Given the description of an element on the screen output the (x, y) to click on. 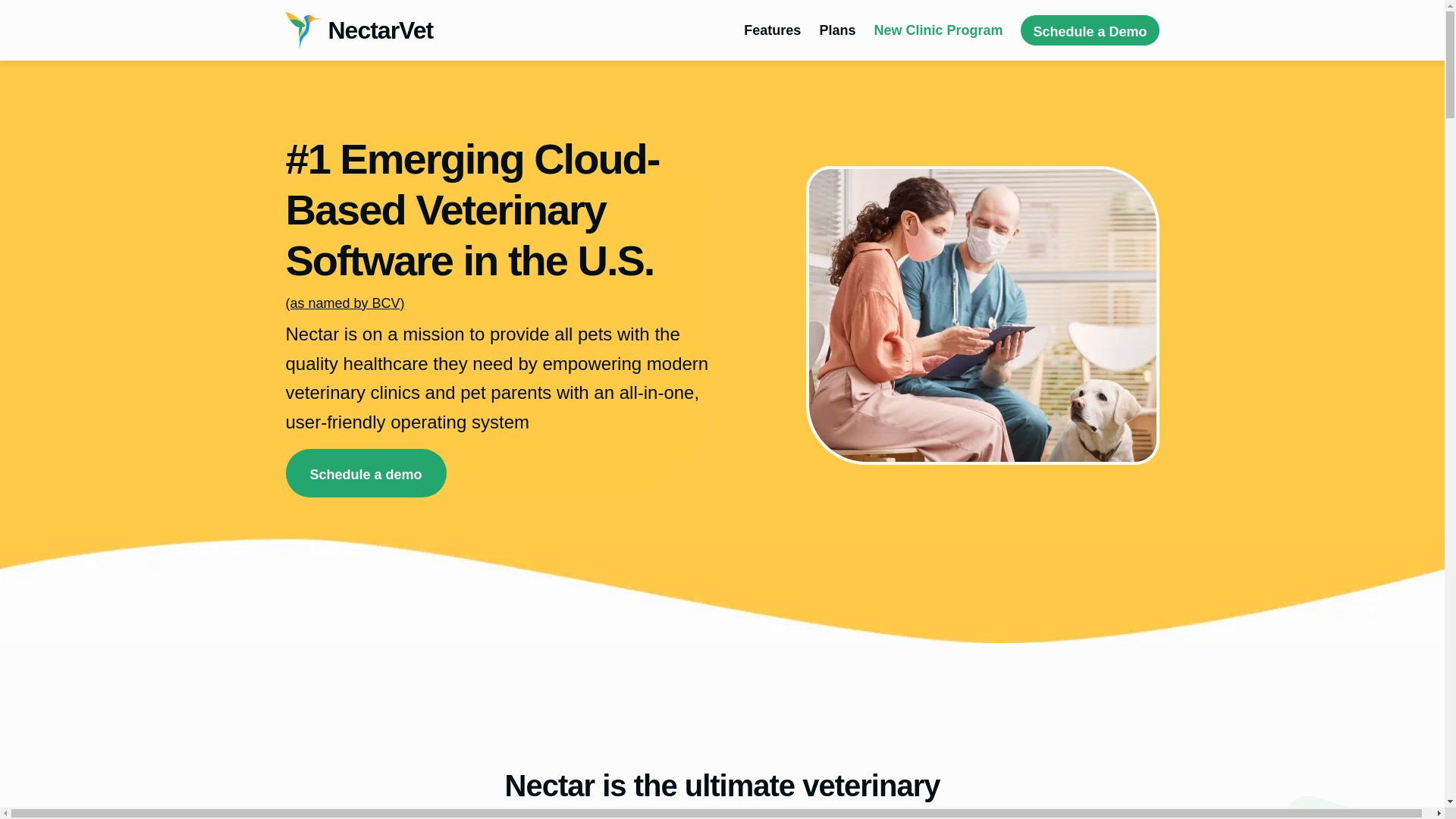
New Clinic Program (938, 29)
NectarVet (358, 30)
Plans (837, 29)
Features (772, 29)
Schedule a Demo (1089, 30)
Schedule a demo (365, 472)
NectarVet (358, 30)
Features (772, 29)
